Given the description of an element on the screen output the (x, y) to click on. 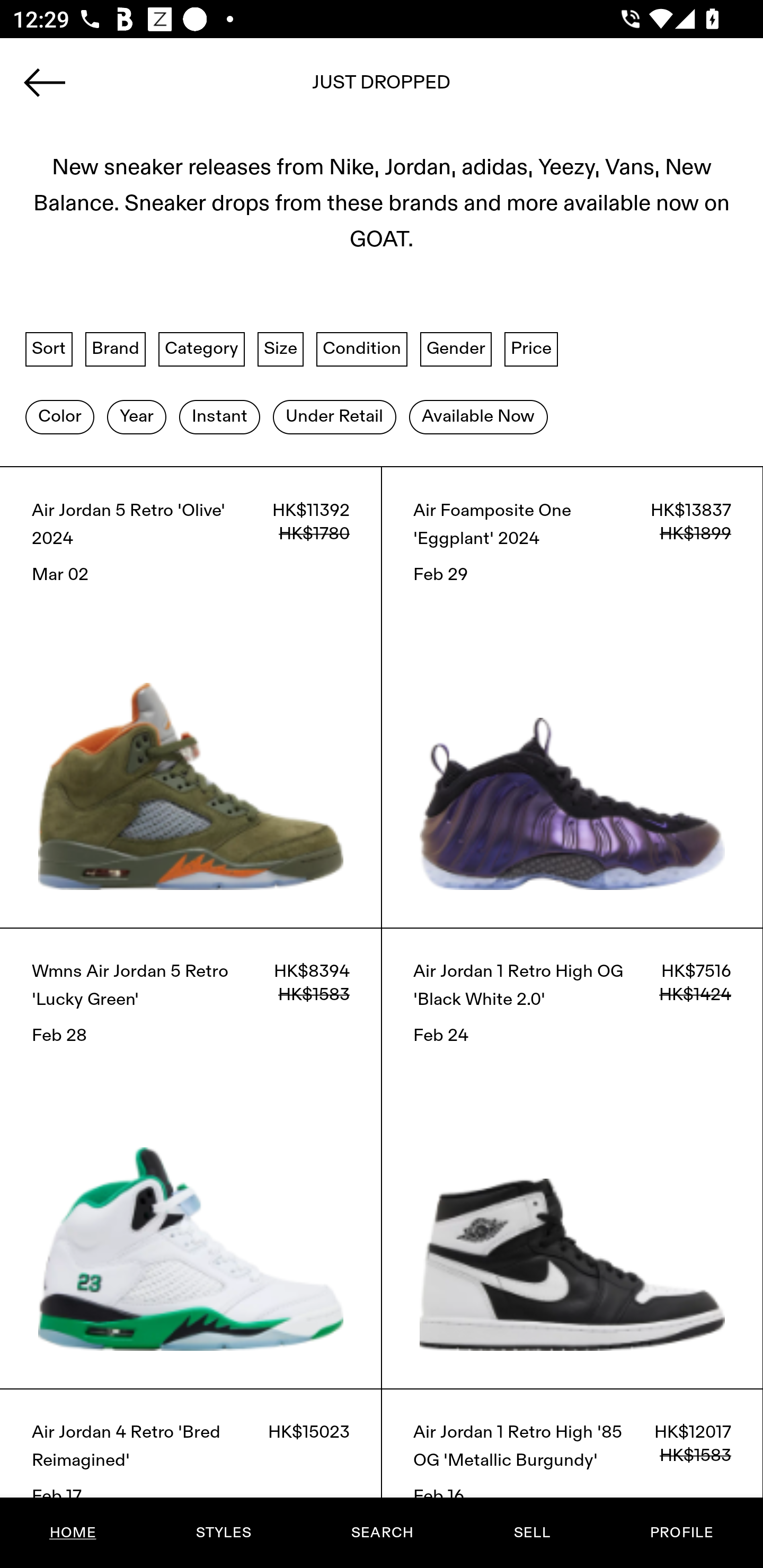
Search (381, 88)
Sort (48, 348)
Brand (115, 348)
Category (201, 348)
Size (280, 348)
Condition (361, 348)
Gender (455, 348)
Price (530, 348)
Color (59, 416)
Year (136, 416)
Instant (219, 416)
Under Retail (334, 416)
Available Now (477, 416)
HOME (72, 1532)
STYLES (222, 1532)
SEARCH (381, 1532)
SELL (531, 1532)
PROFILE (681, 1532)
